Given the description of an element on the screen output the (x, y) to click on. 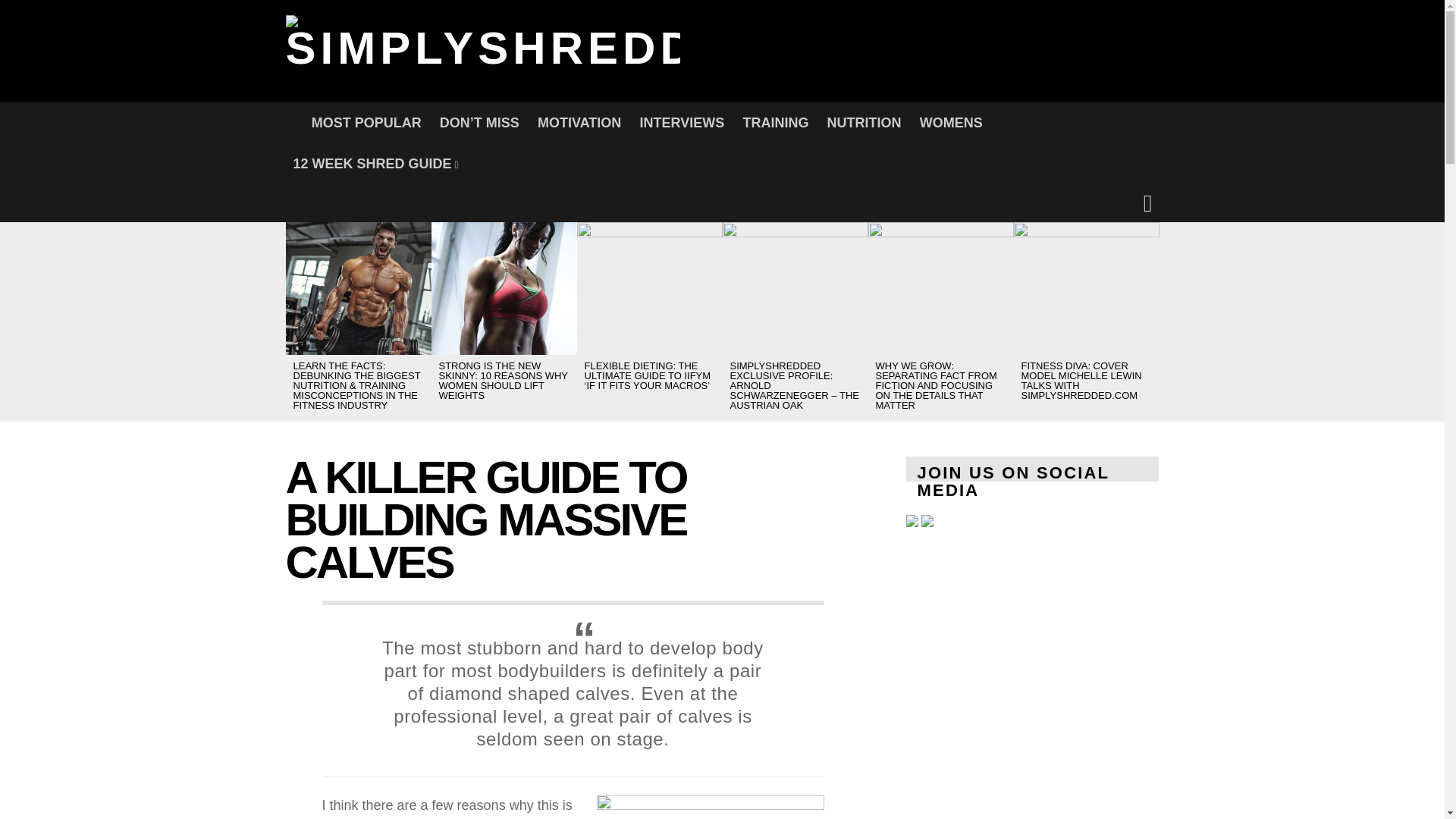
chris-dickerson-calves-1 (709, 806)
MOTIVATION (578, 122)
12 WEEK SHRED GUIDE (375, 163)
TRAINING (775, 122)
NUTRITION (863, 122)
INTERVIEWS (681, 122)
WOMENS (951, 122)
Search (977, 295)
MOST POPULAR (366, 122)
